Given the description of an element on the screen output the (x, y) to click on. 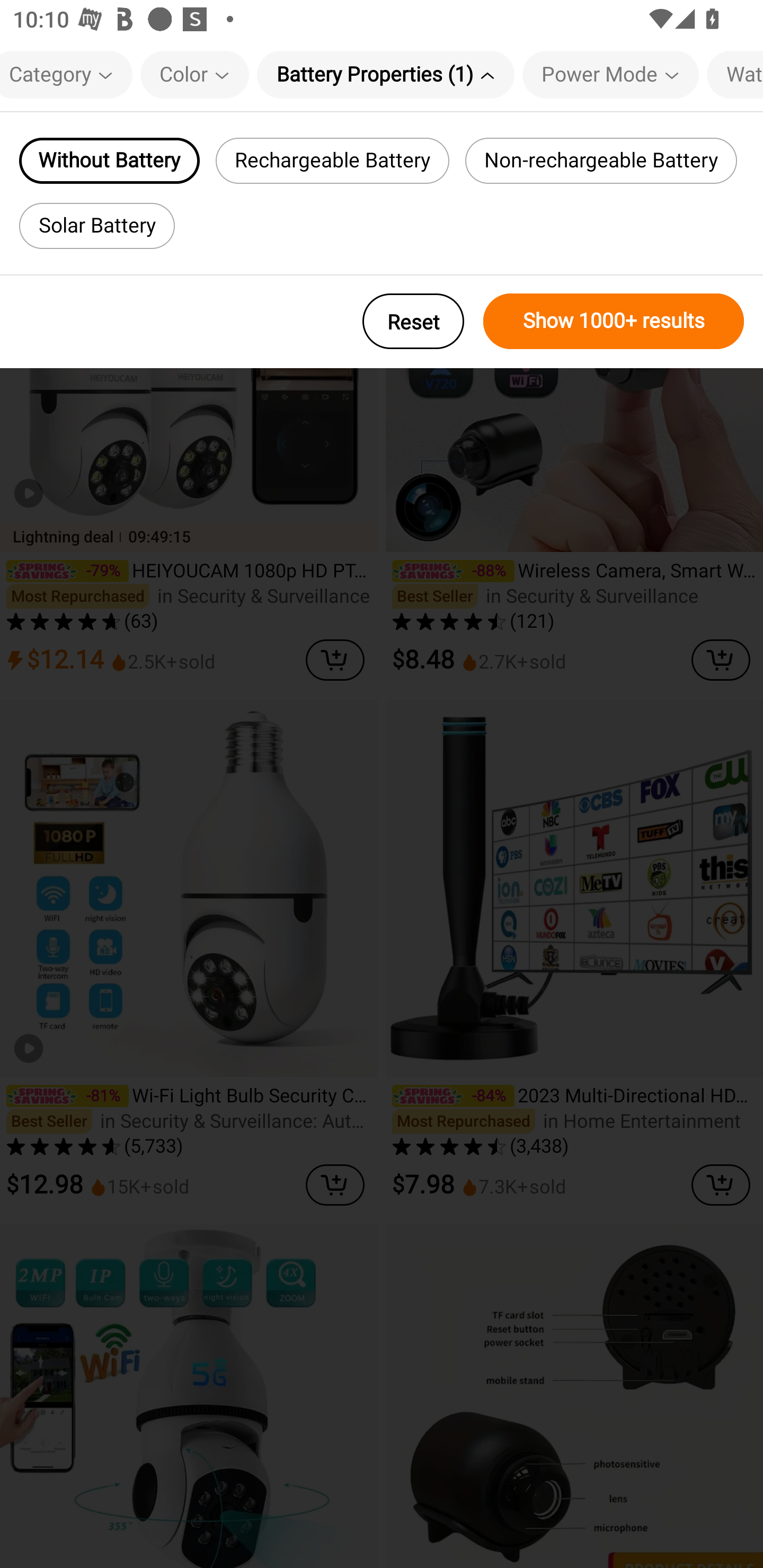
Category (66, 74)
Color (194, 74)
Battery Properties (1) (385, 74)
Power Mode (610, 74)
Without Battery (109, 160)
Rechargeable Battery (332, 160)
Non-rechargeable Battery (601, 160)
Solar Battery (96, 225)
Reset (412, 321)
Show 1000+ results (612, 321)
